Given the description of an element on the screen output the (x, y) to click on. 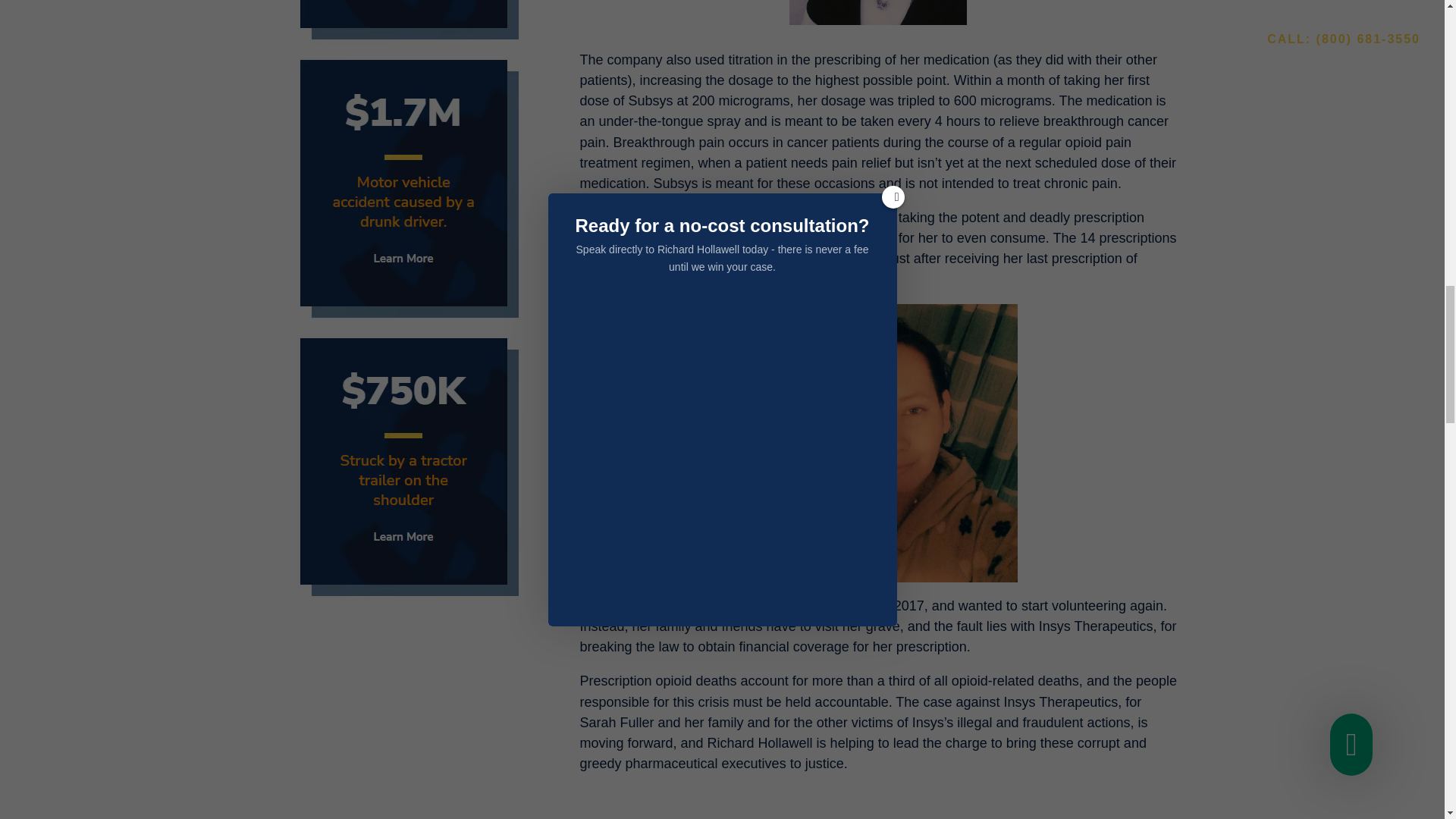
wrong-ful-death (409, 22)
